Given the description of an element on the screen output the (x, y) to click on. 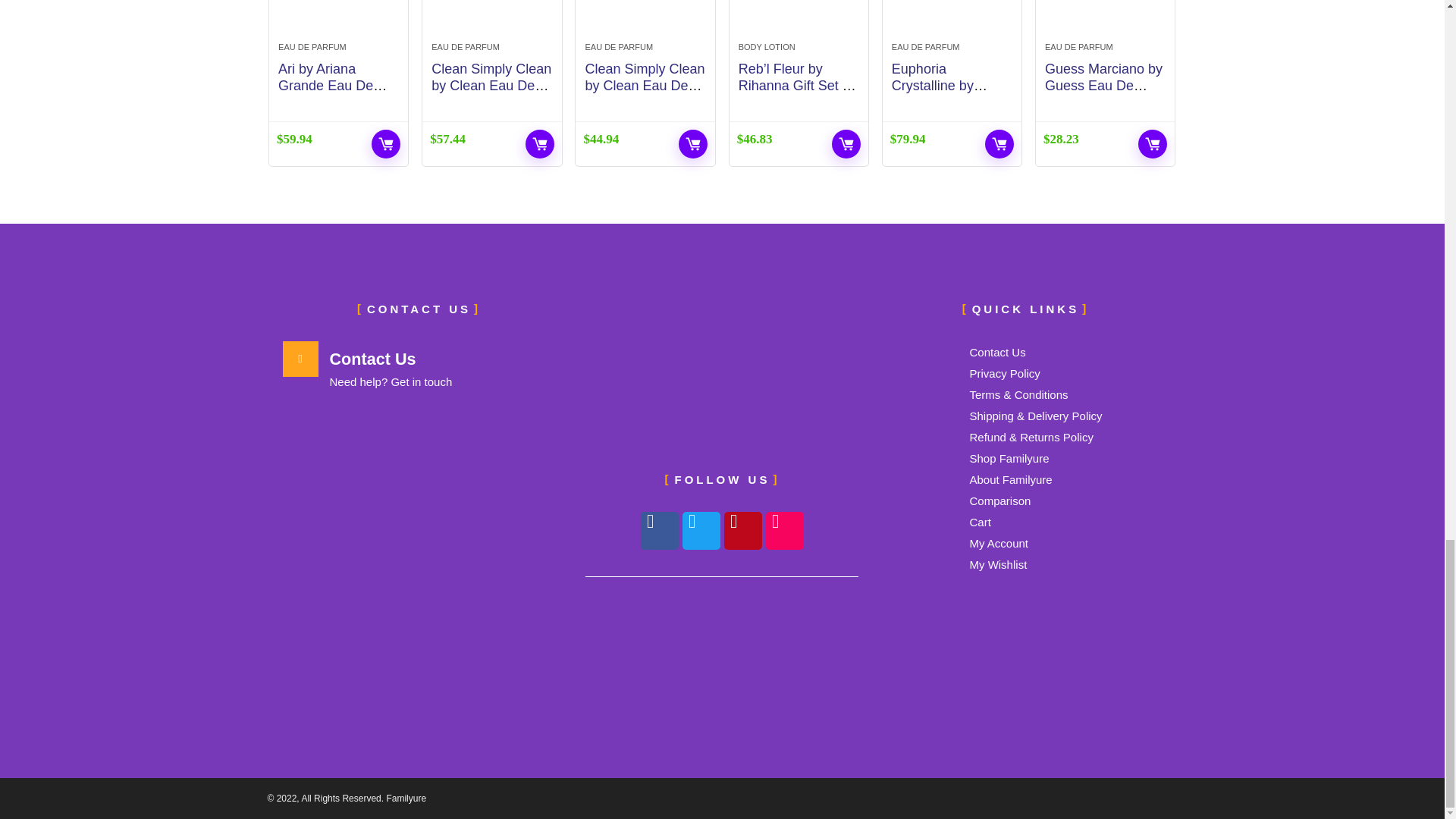
Ari by Ariana Grande Eau De Parfum Spray 3.4 oz For Women (332, 93)
ADD TO CART (385, 143)
EAU DE PARFUM (312, 46)
